Given the description of an element on the screen output the (x, y) to click on. 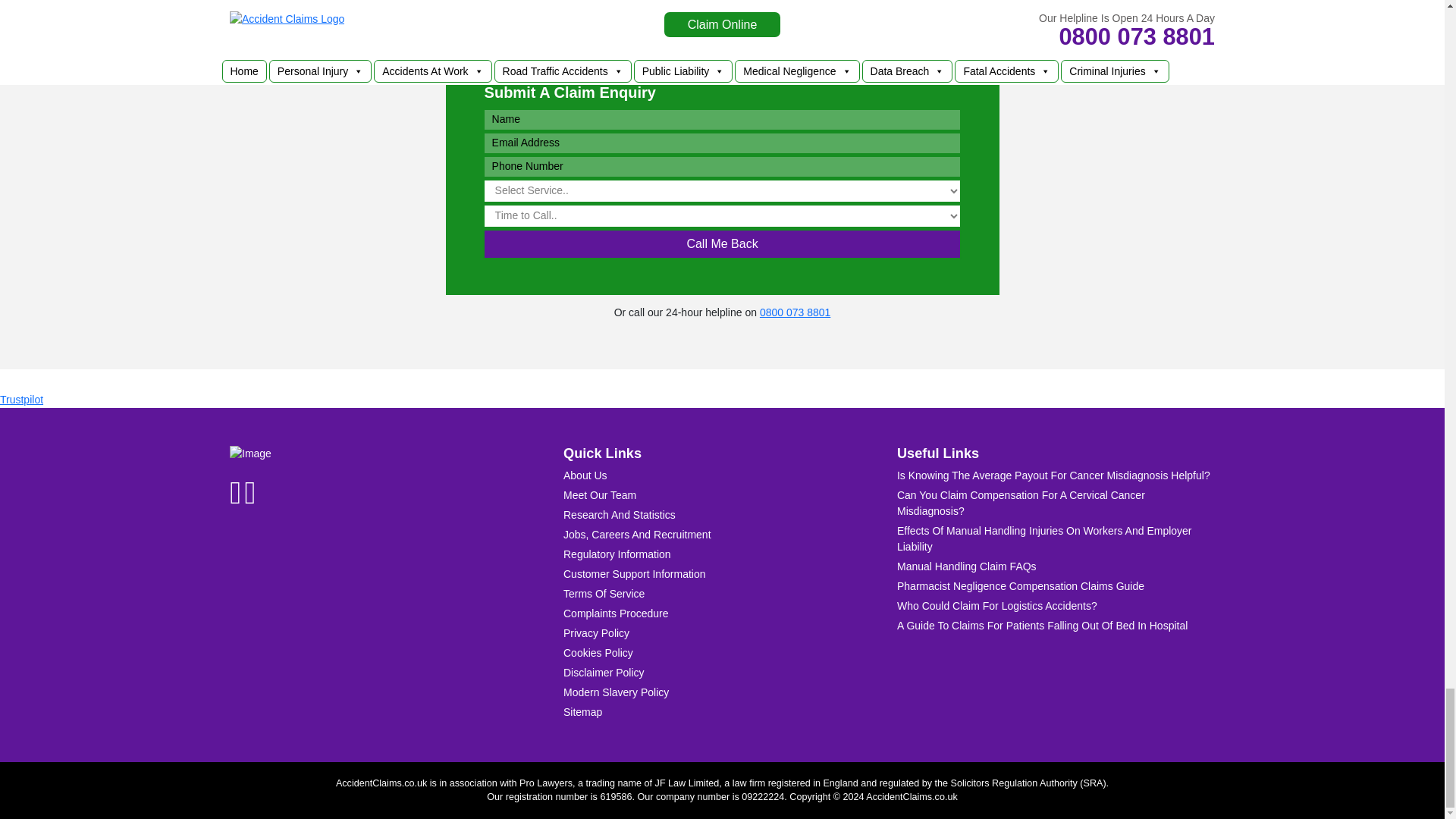
SRA LOGO (334, 589)
Trust Pilot (21, 399)
Call Me Back (722, 243)
